Given the description of an element on the screen output the (x, y) to click on. 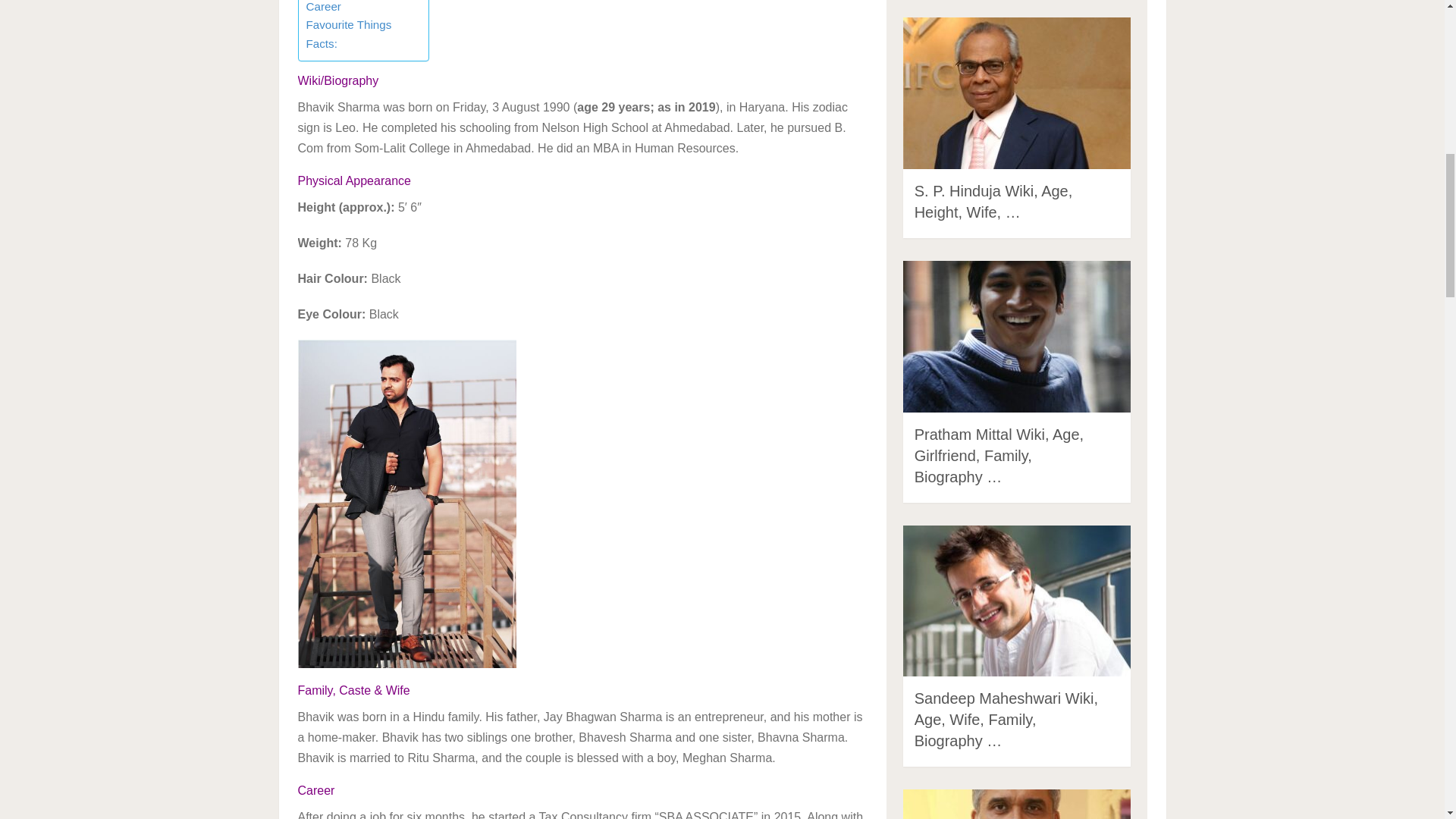
Facts: (321, 44)
Career (322, 7)
Favourite Things (348, 24)
Career (322, 7)
Favourite Things (348, 24)
Facts: (321, 44)
